Given the description of an element on the screen output the (x, y) to click on. 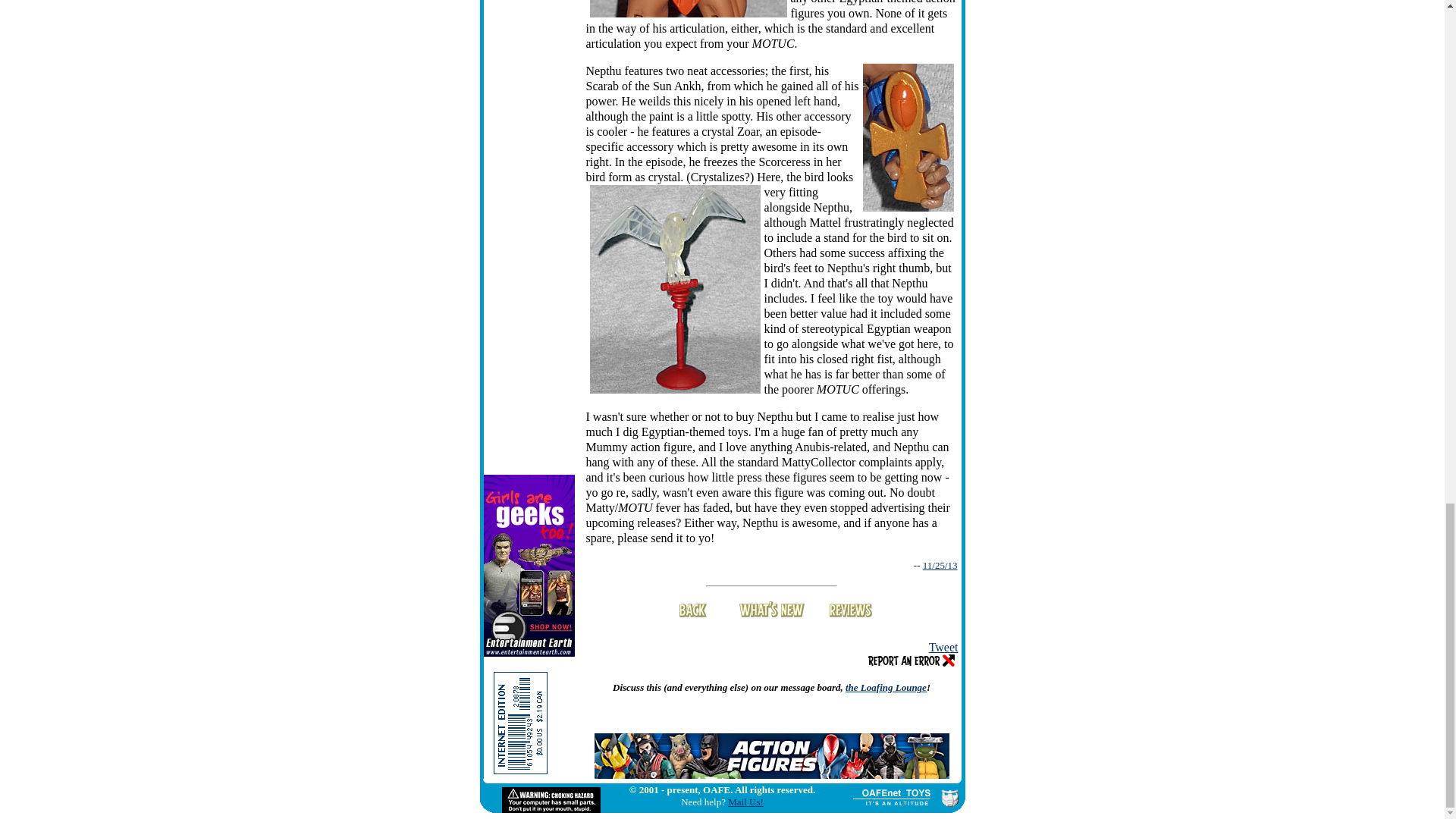
Tweet (943, 646)
Mail Us! (745, 801)
the Loafing Lounge (885, 686)
ethnic! (688, 8)
